Given the description of an element on the screen output the (x, y) to click on. 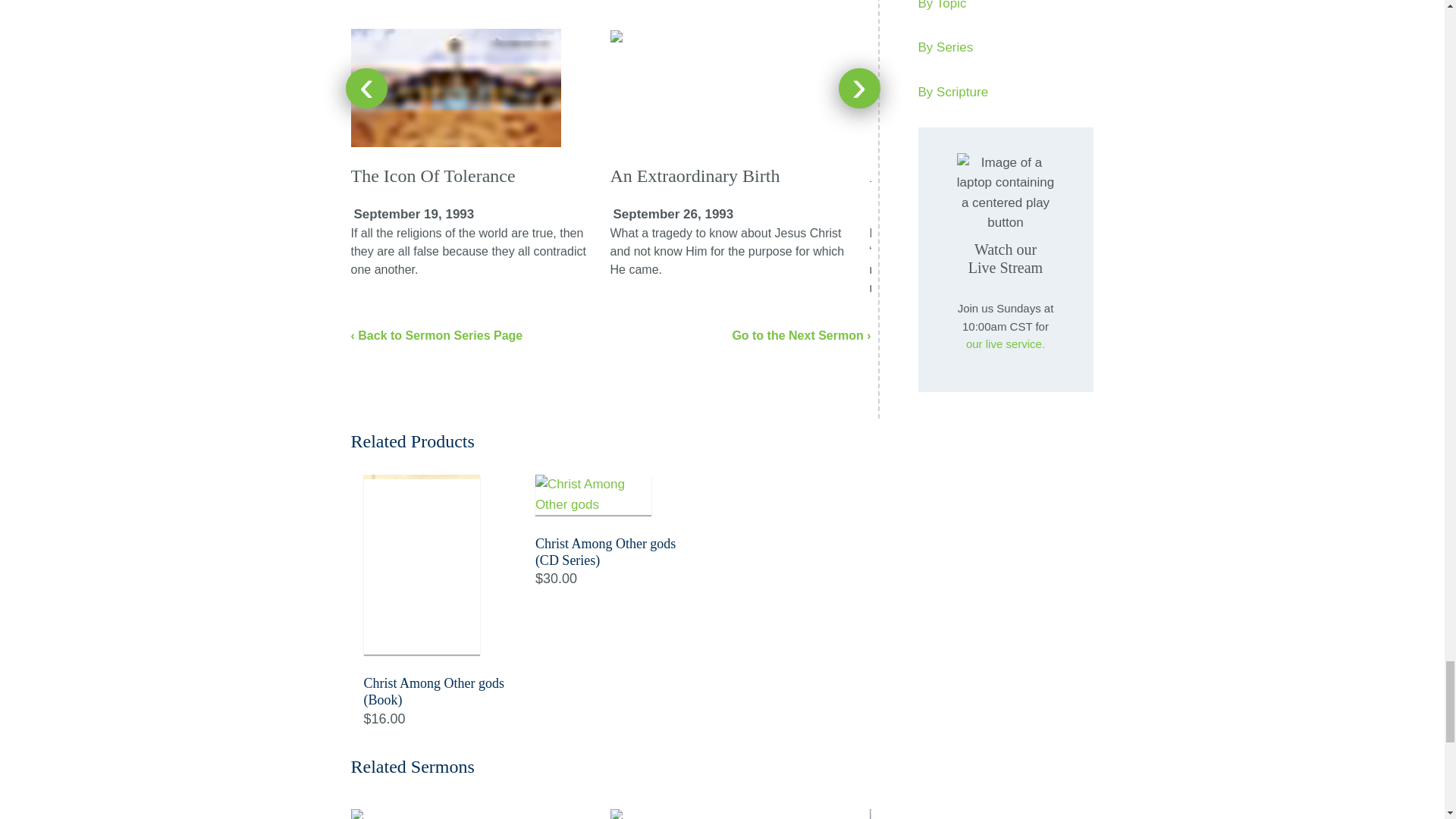
Back to Sermon Series Page (436, 335)
Go To Next Sermon (801, 335)
